Given the description of an element on the screen output the (x, y) to click on. 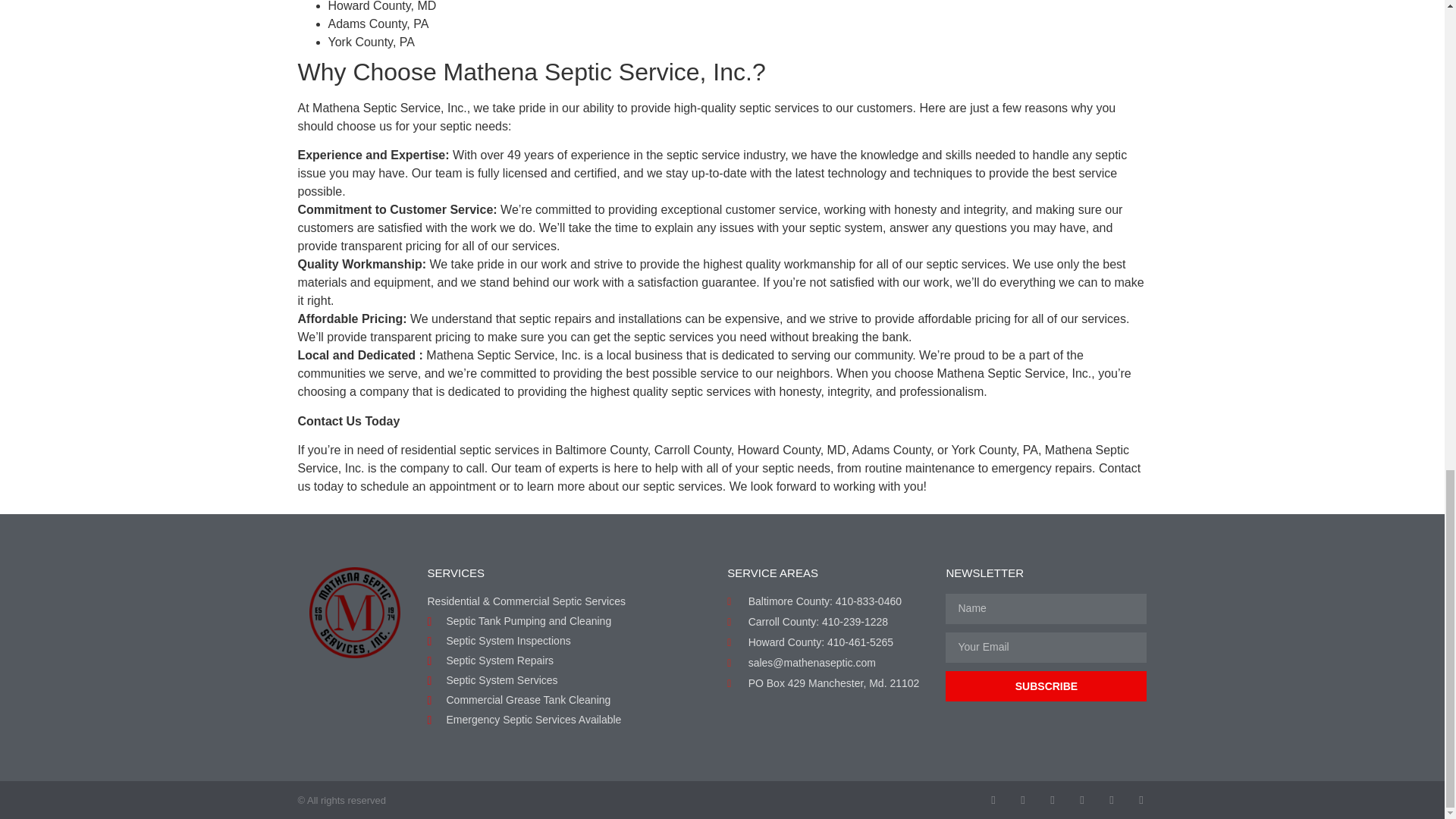
SUBSCRIBE (1045, 685)
